Given the description of an element on the screen output the (x, y) to click on. 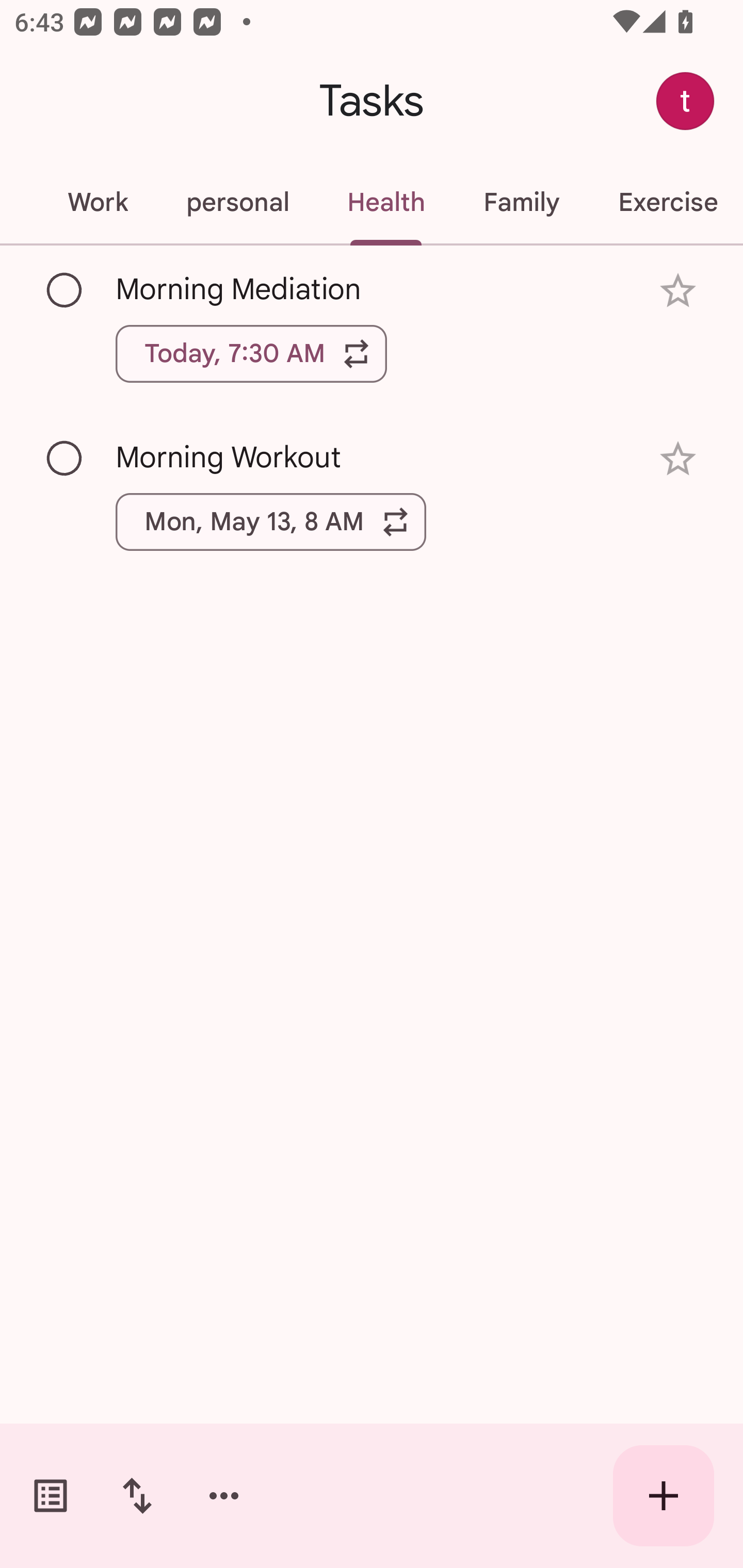
Work (96, 202)
personal (237, 202)
Family (520, 202)
Exercise (665, 202)
Add star (677, 290)
Mark as complete (64, 290)
Today, 7:30 AM (251, 353)
Add star (677, 458)
Mark as complete (64, 459)
Mon, May 13, 8 AM (270, 522)
Switch task lists (50, 1495)
Create new task (663, 1495)
Change sort order (136, 1495)
More options (223, 1495)
